Given the description of an element on the screen output the (x, y) to click on. 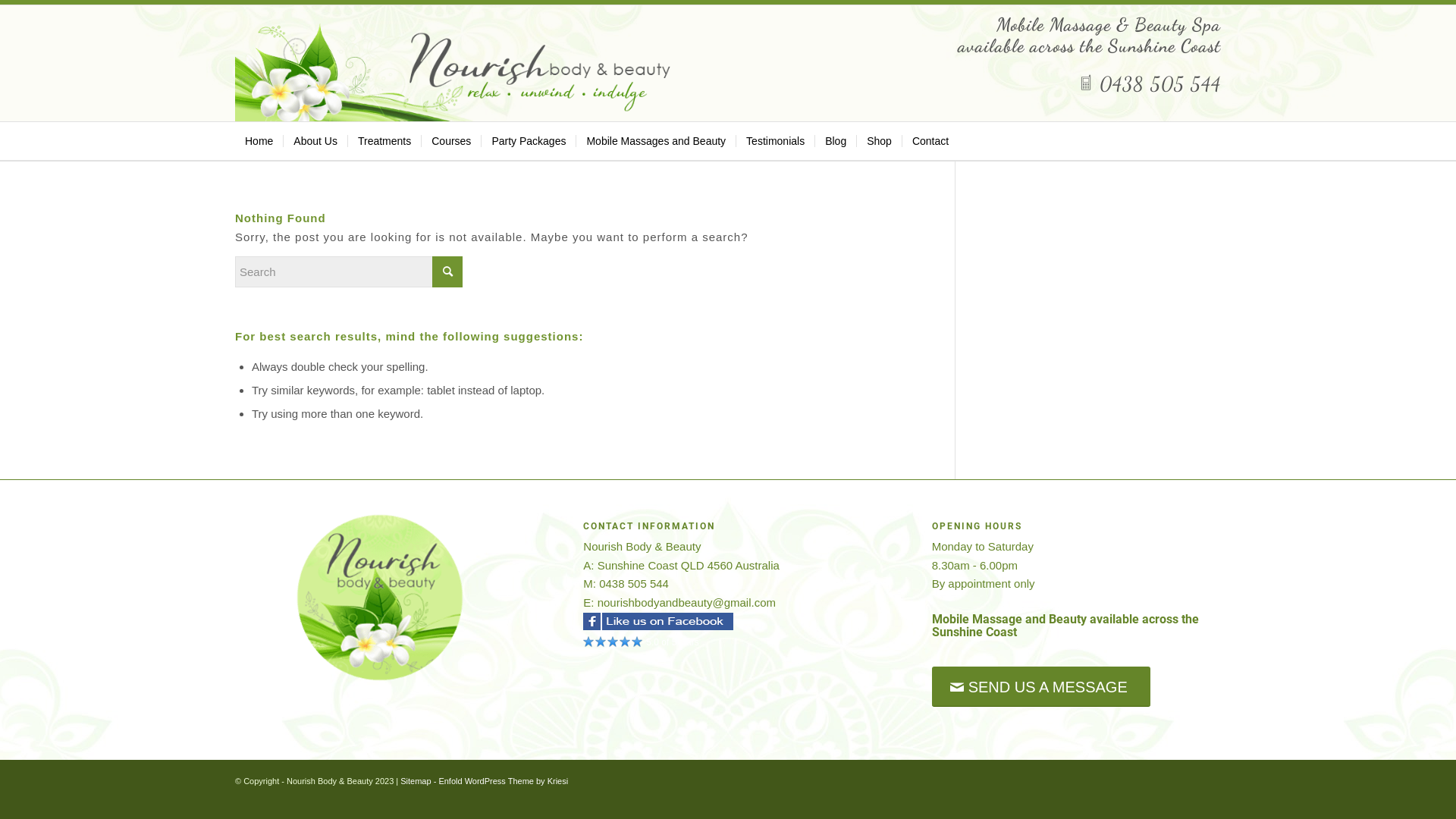
About Us Element type: text (314, 141)
Enfold WordPress Theme by Kriesi Element type: text (502, 780)
Nourish Body and Beauty Element type: hover (624, 643)
Treatments Element type: text (383, 141)
Nourish Body and Beauty Element type: hover (600, 643)
Testimonials Element type: text (774, 141)
Blog Element type: text (835, 141)
Shop Element type: text (878, 141)
Mobile Massages and Beauty Element type: text (655, 141)
Nourish Body and Beauty Element type: hover (588, 643)
Contact Element type: text (929, 141)
Party Packages Element type: text (527, 141)
Nourish Body and Beauty Element type: hover (612, 643)
0438 505 544 Element type: text (1149, 83)
Sitemap - Element type: text (419, 780)
Nourish Body and Beauty Element type: hover (636, 643)
Courses Element type: text (450, 141)
Nourish Body Beauty Website Header Element type: hover (460, 71)
5.0 of 5 stars Element type: text (727, 642)
Home Element type: text (258, 141)
SEND US A MESSAGE Element type: text (1040, 686)
